Given the description of an element on the screen output the (x, y) to click on. 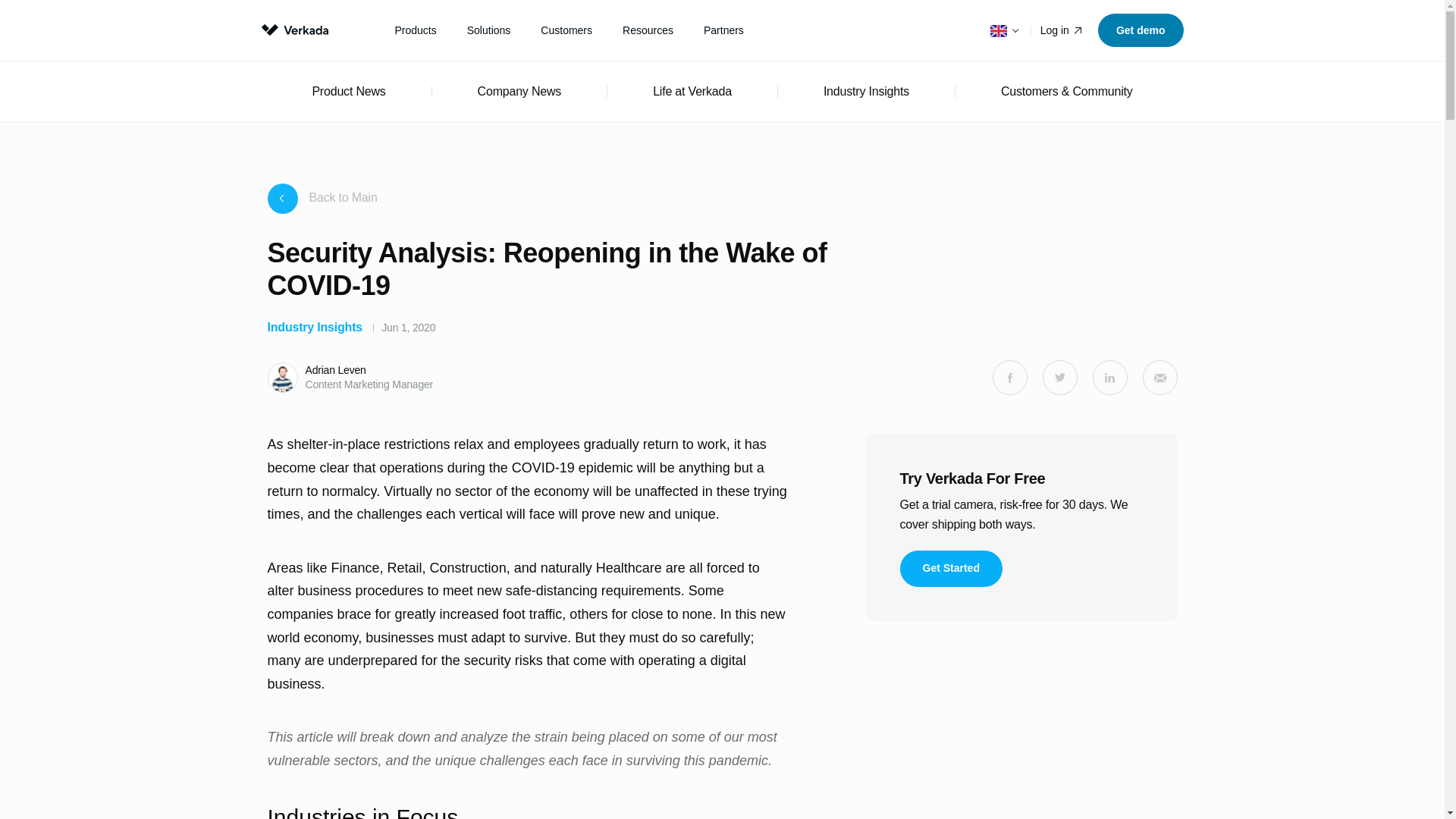
Log in (1062, 30)
Industry Insights (866, 90)
Company News (519, 90)
Product News (348, 90)
Life at Verkada (692, 90)
Partners (723, 30)
Back to Main (321, 198)
Products (414, 30)
Customers (566, 30)
Get demo (1140, 29)
